Given the description of an element on the screen output the (x, y) to click on. 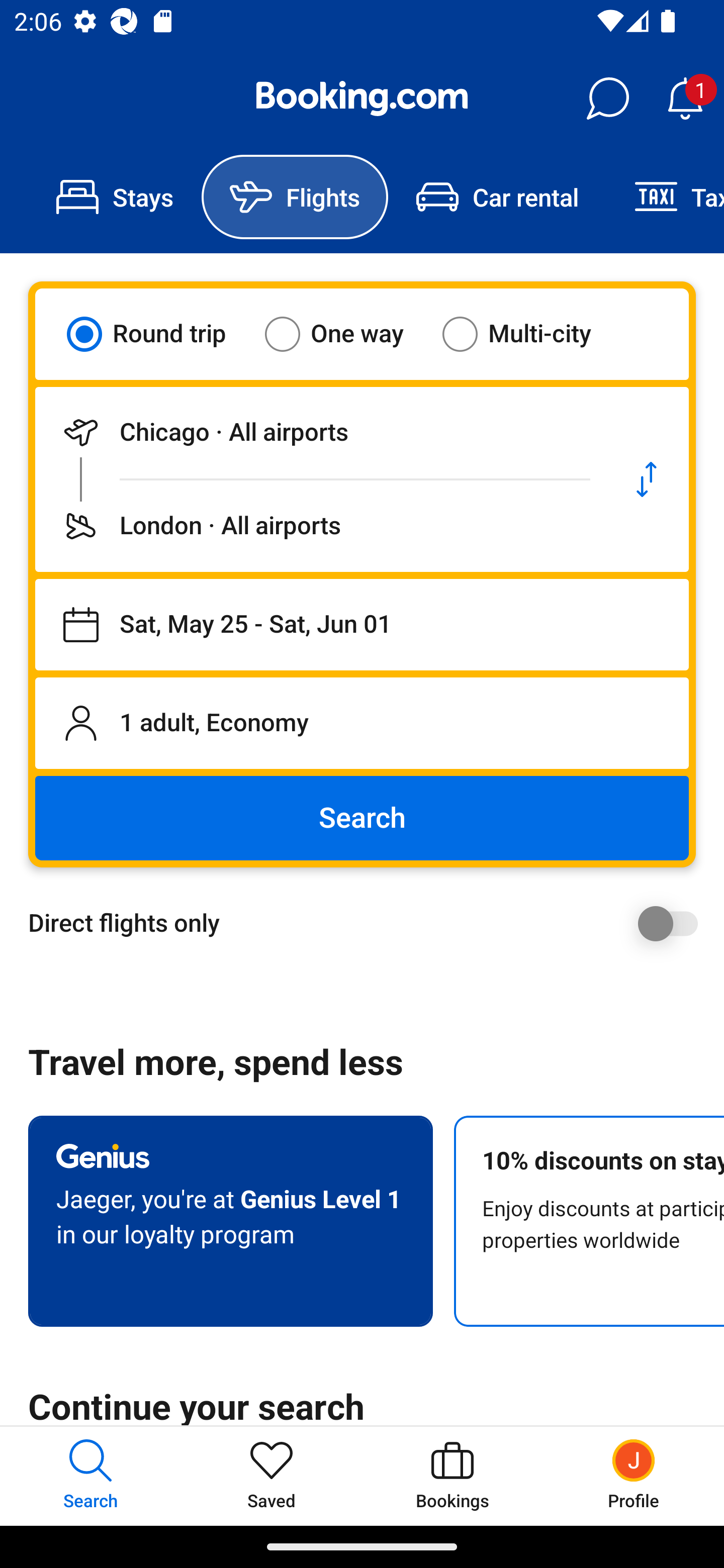
Messages (607, 98)
Notifications (685, 98)
Stays (114, 197)
Flights (294, 197)
Car rental (497, 197)
Taxi (665, 197)
One way (346, 333)
Multi-city (528, 333)
Departing from Chicago · All airports (319, 432)
Swap departure location and destination (646, 479)
Flying to London · All airports (319, 525)
Departing on Sat, May 25, returning on Sat, Jun 01 (361, 624)
1 adult, Economy (361, 722)
Search (361, 818)
Direct flights only (369, 923)
Saved (271, 1475)
Bookings (452, 1475)
Profile (633, 1475)
